Given the description of an element on the screen output the (x, y) to click on. 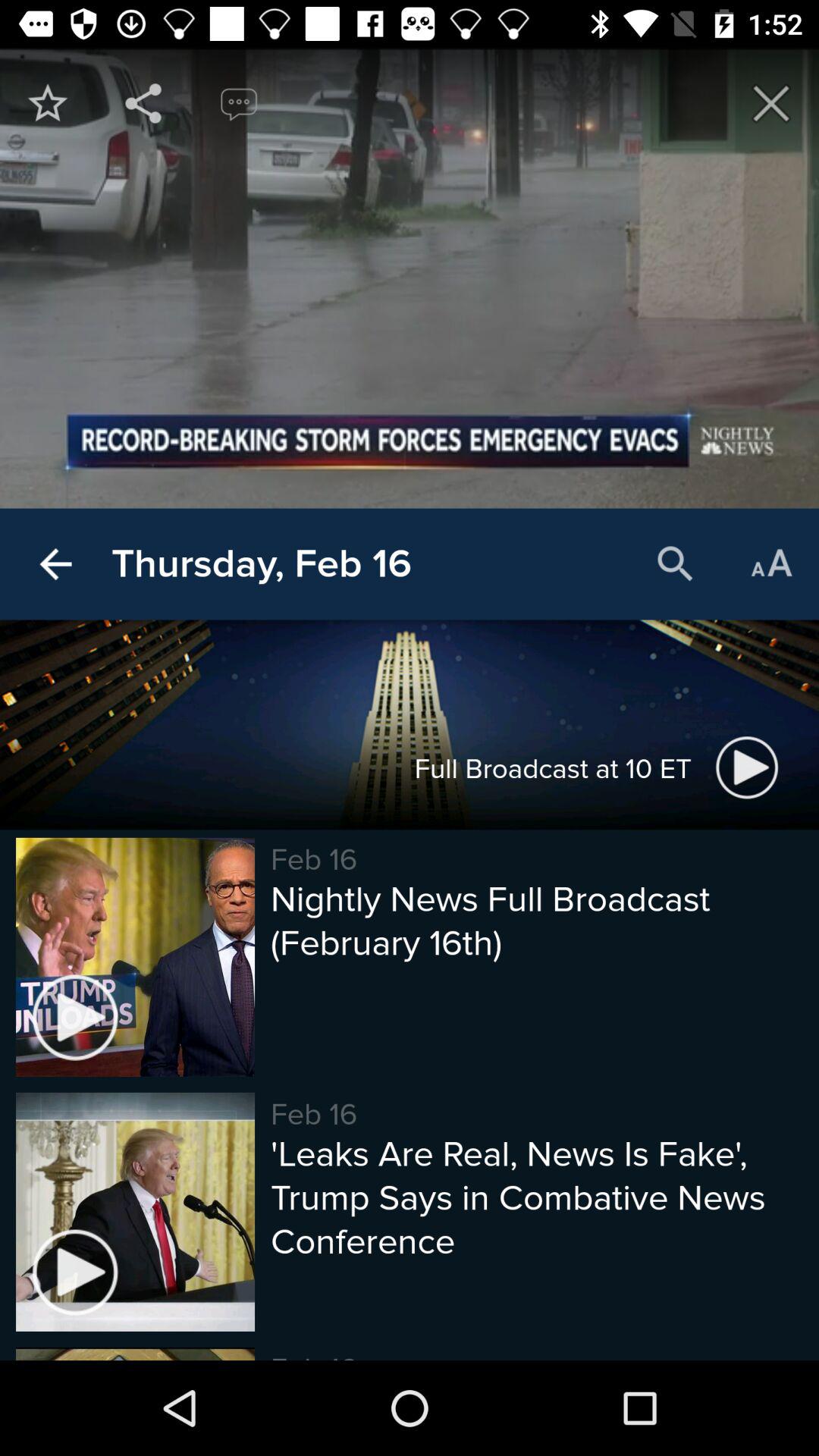
toggle favorite video (47, 103)
